Given the description of an element on the screen output the (x, y) to click on. 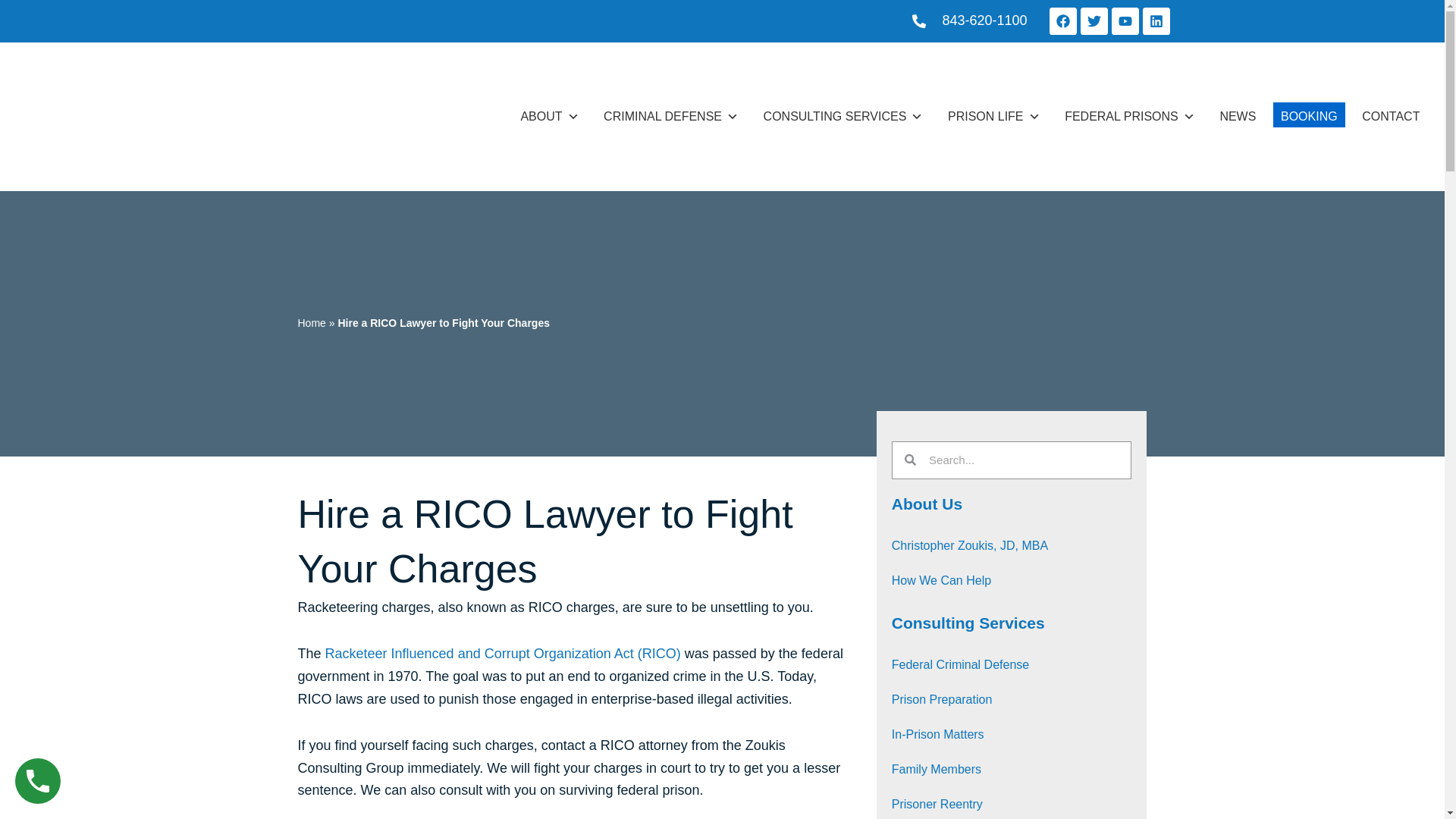
Youtube (1125, 21)
Twitter (1093, 21)
CONSULTING SERVICES (843, 116)
CRIMINAL DEFENSE (670, 116)
PRISON LIFE (994, 116)
ABOUT (549, 116)
Linkedin (1155, 21)
Facebook (1063, 21)
843-620-1100 (969, 20)
